Given the description of an element on the screen output the (x, y) to click on. 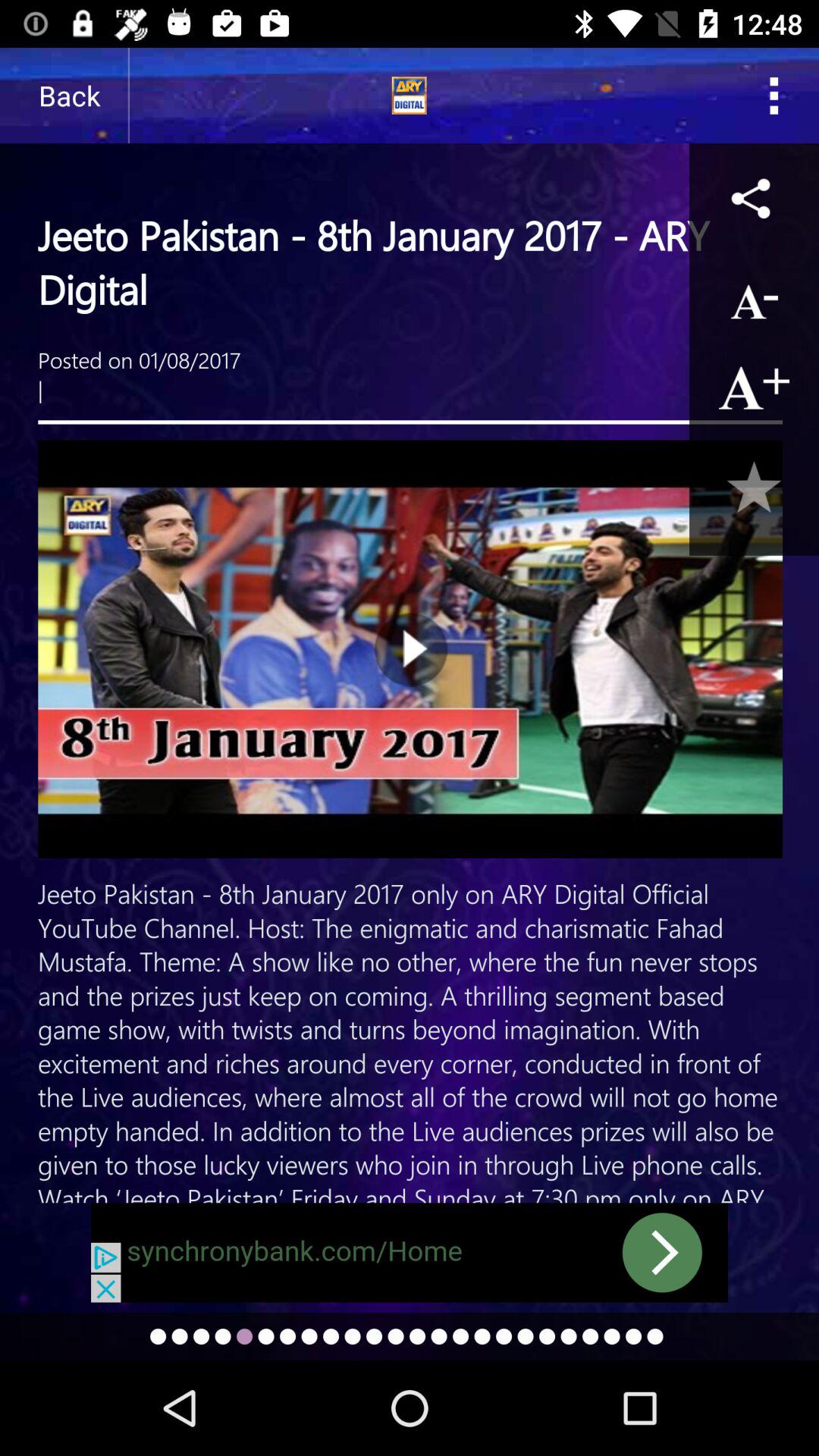
share the article (754, 197)
